Given the description of an element on the screen output the (x, y) to click on. 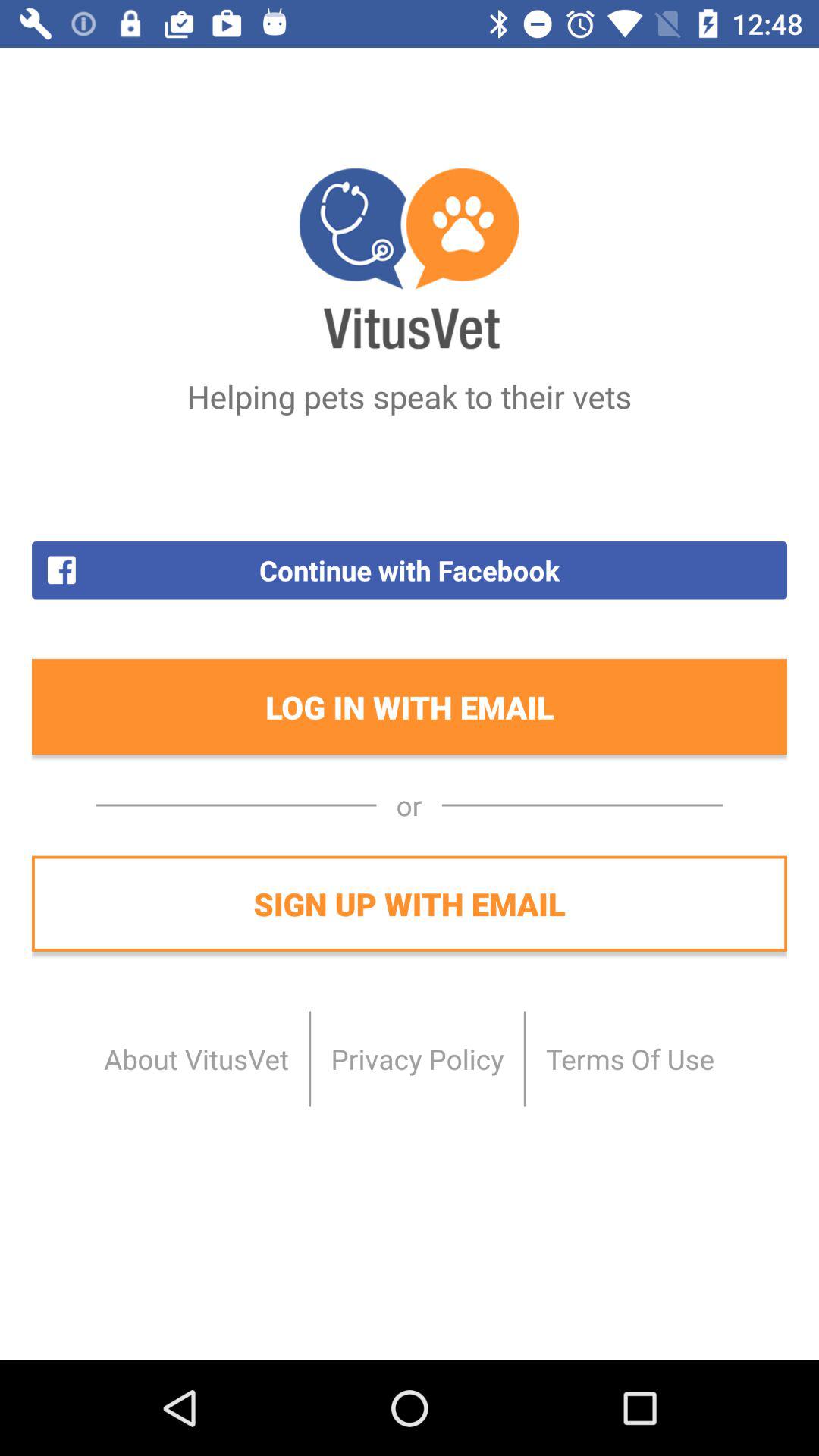
scroll to the terms of use item (630, 1058)
